Given the description of an element on the screen output the (x, y) to click on. 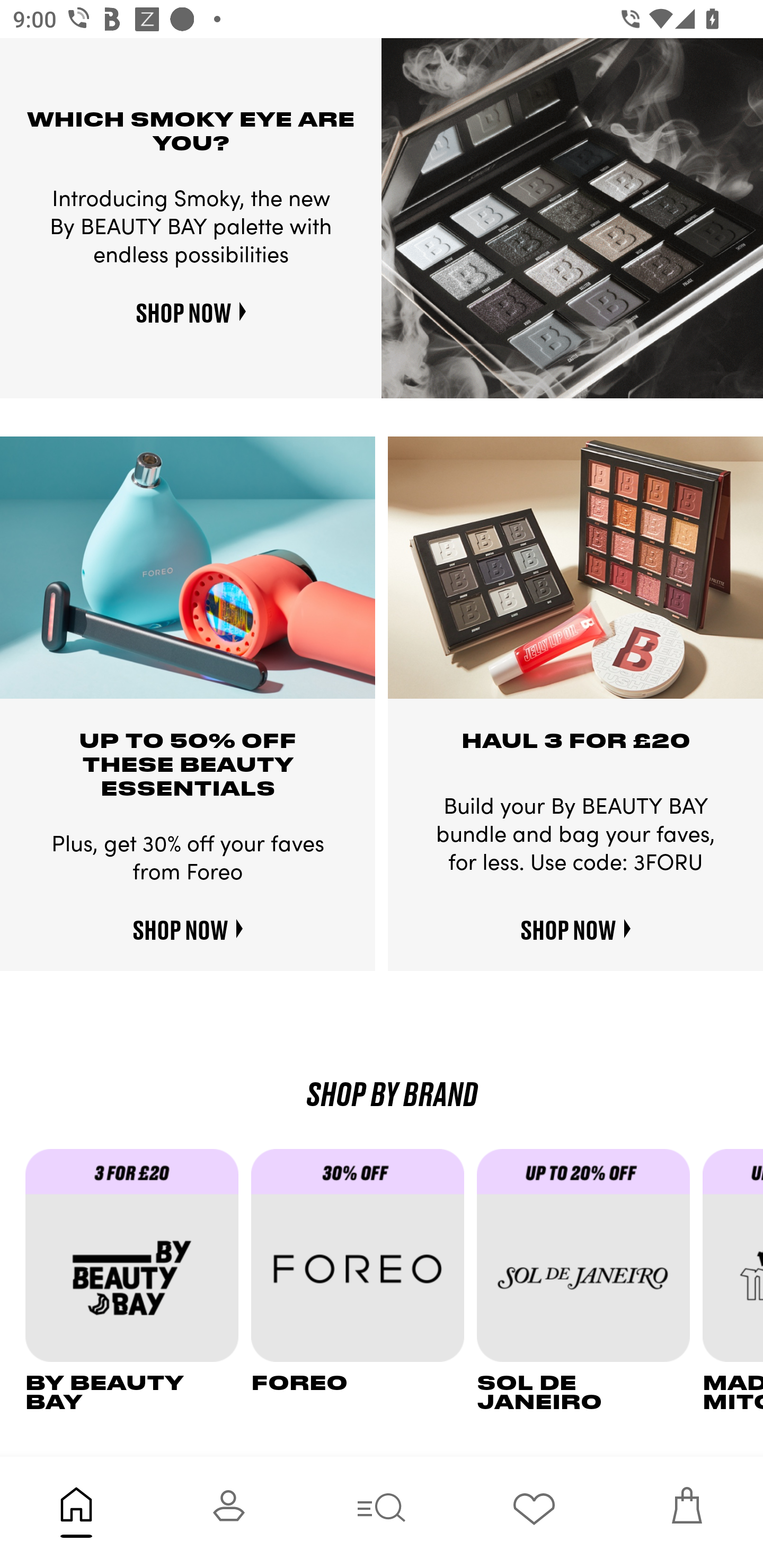
BY BEAUTY BAY (138, 1280)
FOREO (363, 1280)
SOL DE JANEIRO (589, 1280)
